Given the description of an element on the screen output the (x, y) to click on. 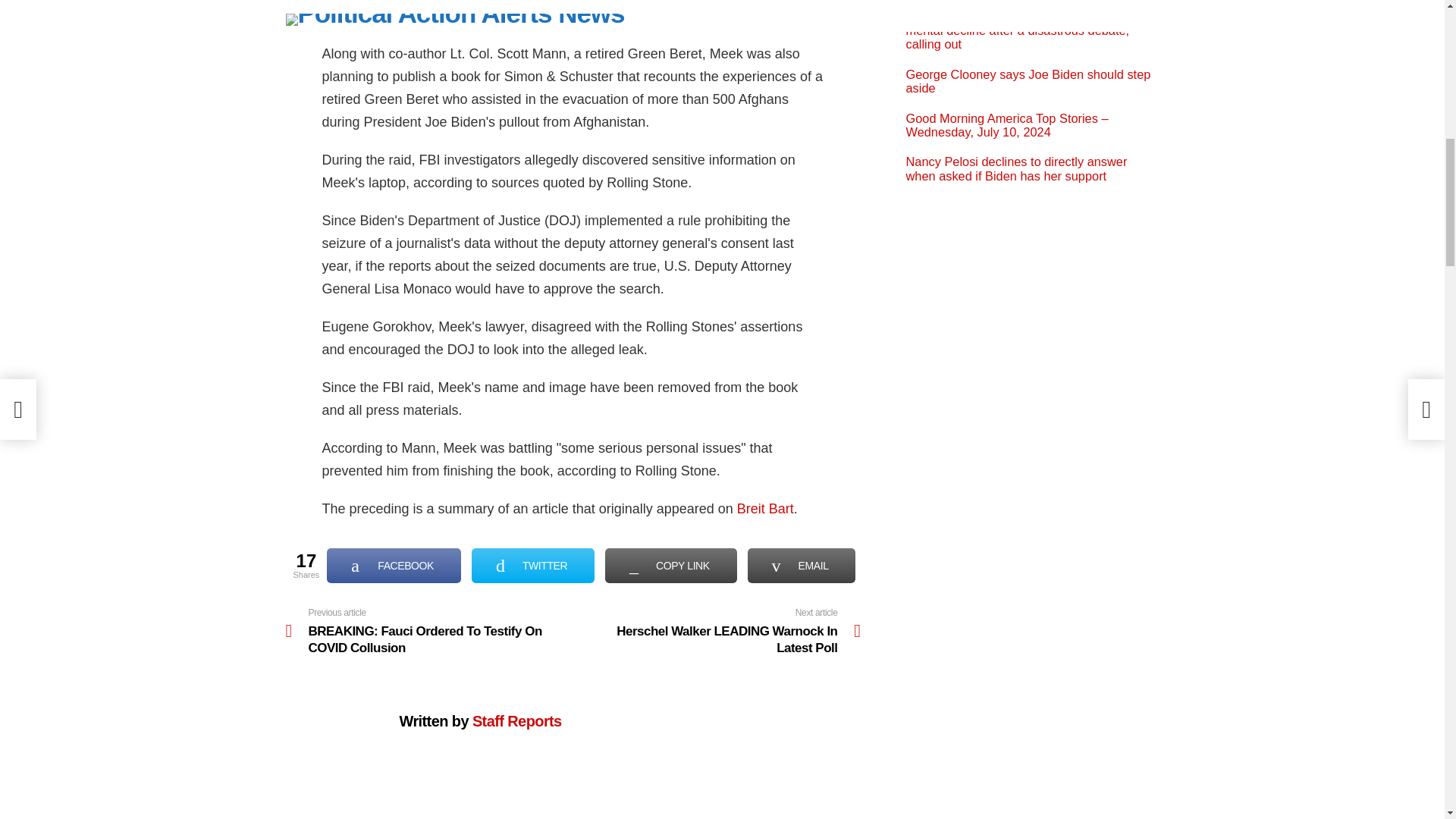
COPY LINK (670, 565)
Share on Copy Link (670, 565)
Share on Email (802, 565)
Breit Bart (764, 508)
EMAIL (802, 565)
FACEBOOK (393, 565)
Share on Twitter (532, 565)
Share on Facebook (393, 565)
TWITTER (716, 631)
